Given the description of an element on the screen output the (x, y) to click on. 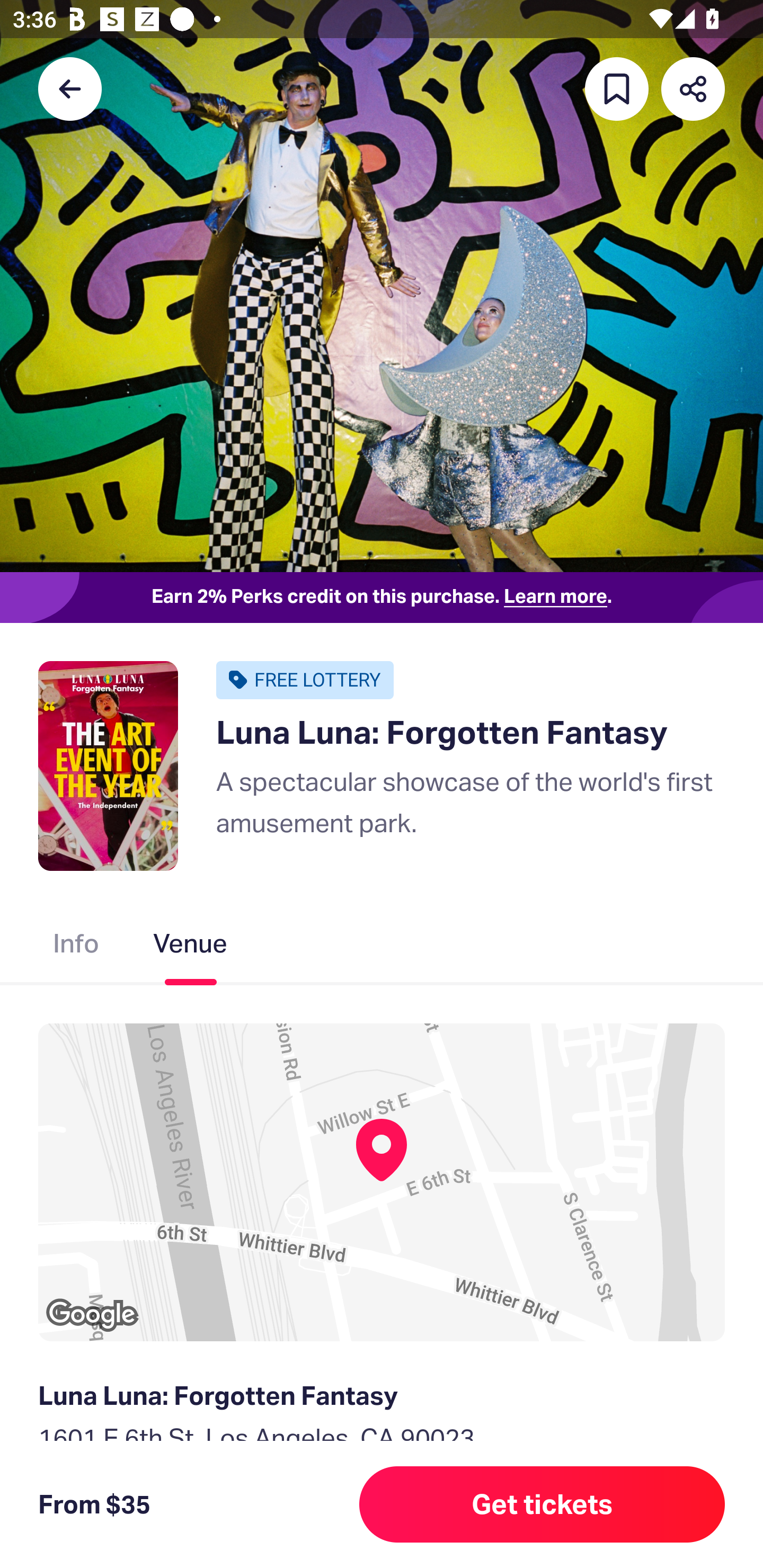
Earn 2% Perks credit on this purchase. Learn more. (381, 597)
Info (76, 946)
Google Map Luna Luna: Forgotten Fantasy.  (381, 1181)
Get tickets (541, 1504)
Get directions (381, 1530)
